Given the description of an element on the screen output the (x, y) to click on. 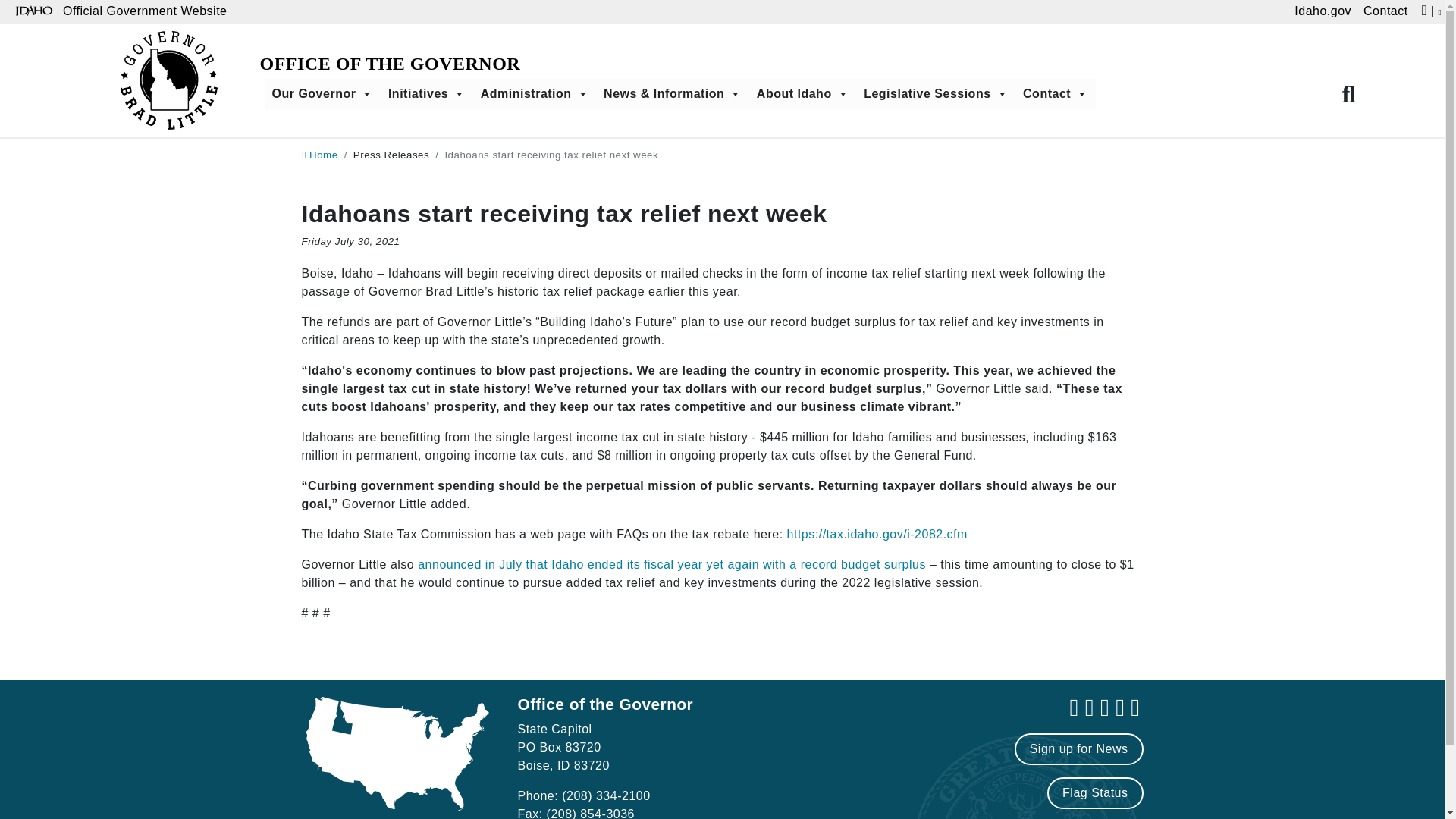
Idaho.gov (1322, 11)
Initiatives (426, 93)
home (319, 154)
Our Governor (321, 93)
Legislative Sessions (935, 93)
About Idaho (802, 93)
Administration (534, 93)
Contact (1384, 11)
